Given the description of an element on the screen output the (x, y) to click on. 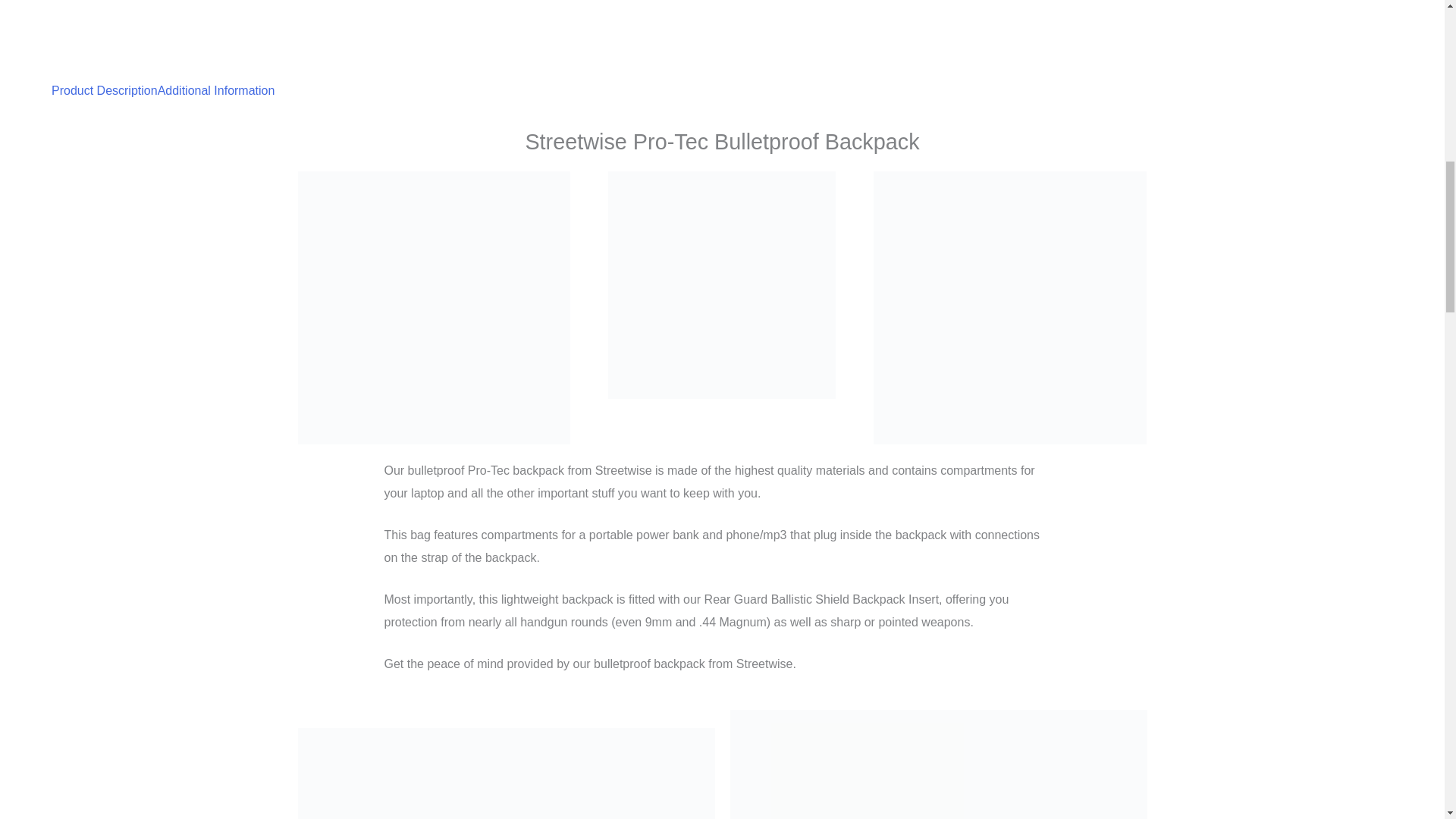
Streetwise Pro-Tec Bulletproof Backpack SWPTBP 02 (505, 773)
Streetwise Pro-Tec Bulletproof Backpack SWPTBP 03 (938, 764)
Streetwise Pro-Tec Bulletproof Backpack (1010, 307)
Streetwise Pro-Tec Bulletproof Backpack (721, 284)
Streetwise Pro-Tec Bulletproof Backpack (433, 307)
